Given the description of an element on the screen output the (x, y) to click on. 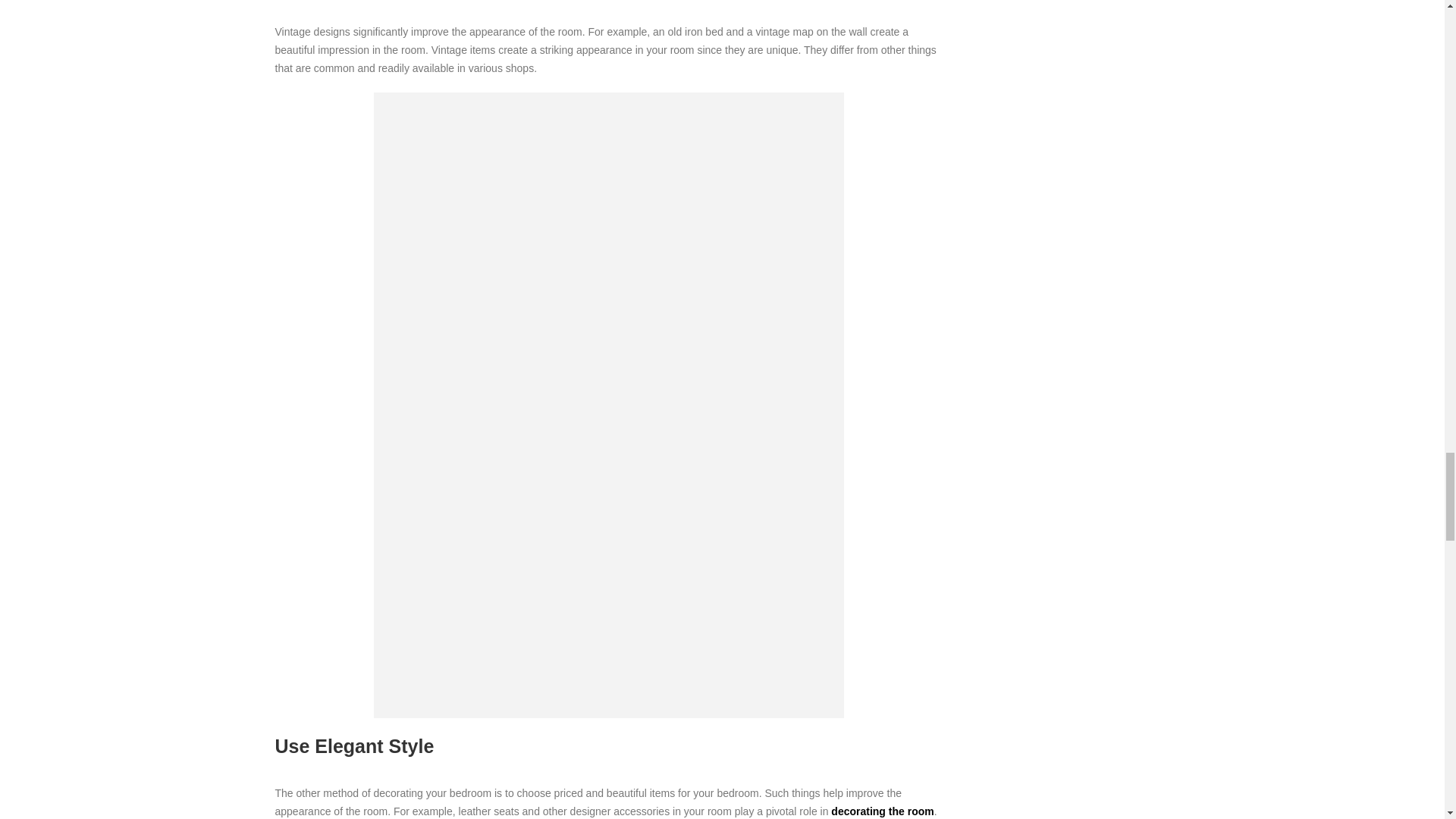
decorating the room (882, 811)
